Given the description of an element on the screen output the (x, y) to click on. 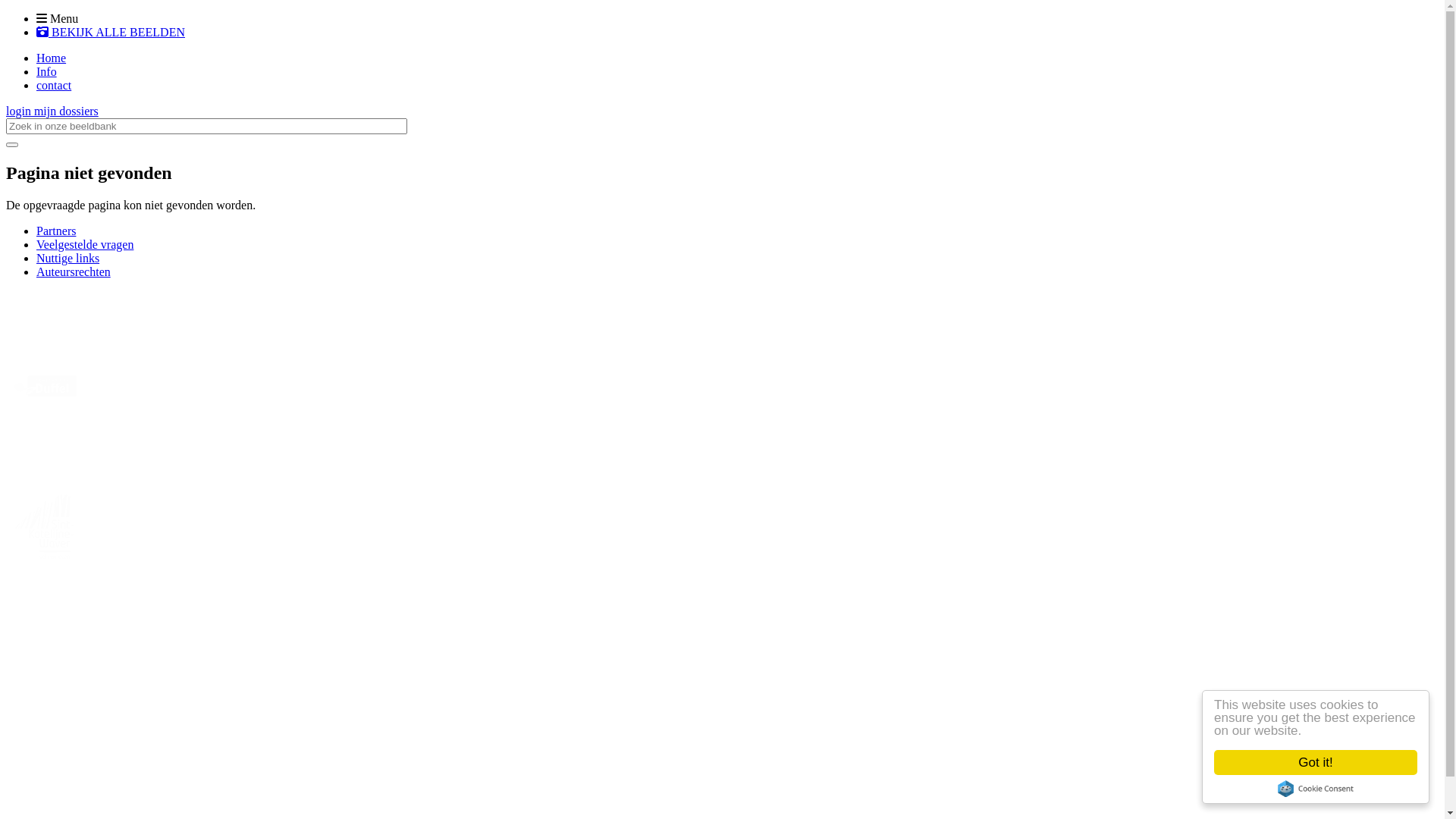
Got it! Element type: text (1315, 762)
login mijn dossiers Element type: text (52, 110)
Cookie Consent plugin for the EU cookie law Element type: text (1315, 788)
Auteursrechten Element type: text (73, 271)
BEKIJK ALLE BEELDEN Element type: text (110, 31)
Veelgestelde vragen Element type: text (84, 244)
Overslaan en naar de inhoud gaan Element type: text (6, 12)
Home Element type: text (50, 57)
Geef zoekterm in Element type: hover (206, 126)
Menu Element type: text (57, 18)
Info Element type: text (46, 71)
Partners Element type: text (55, 230)
contact Element type: text (53, 84)
Zoeken Element type: text (12, 144)
Nuttige links Element type: text (67, 257)
